Given the description of an element on the screen output the (x, y) to click on. 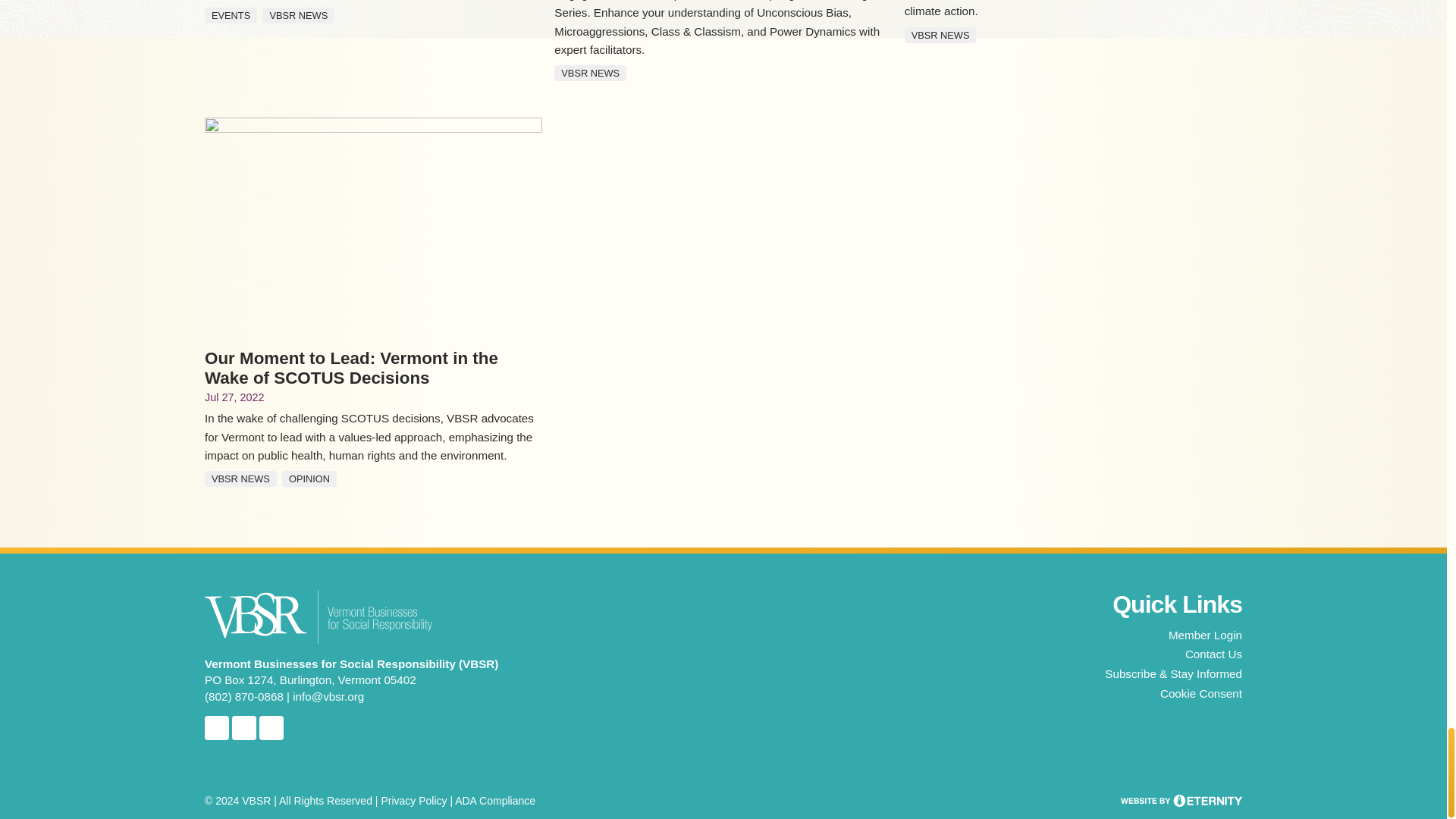
Find us on Facebook (216, 727)
Follow us on Instagram (243, 727)
Return Home (318, 616)
Find us on LinkedIn (271, 727)
